Given the description of an element on the screen output the (x, y) to click on. 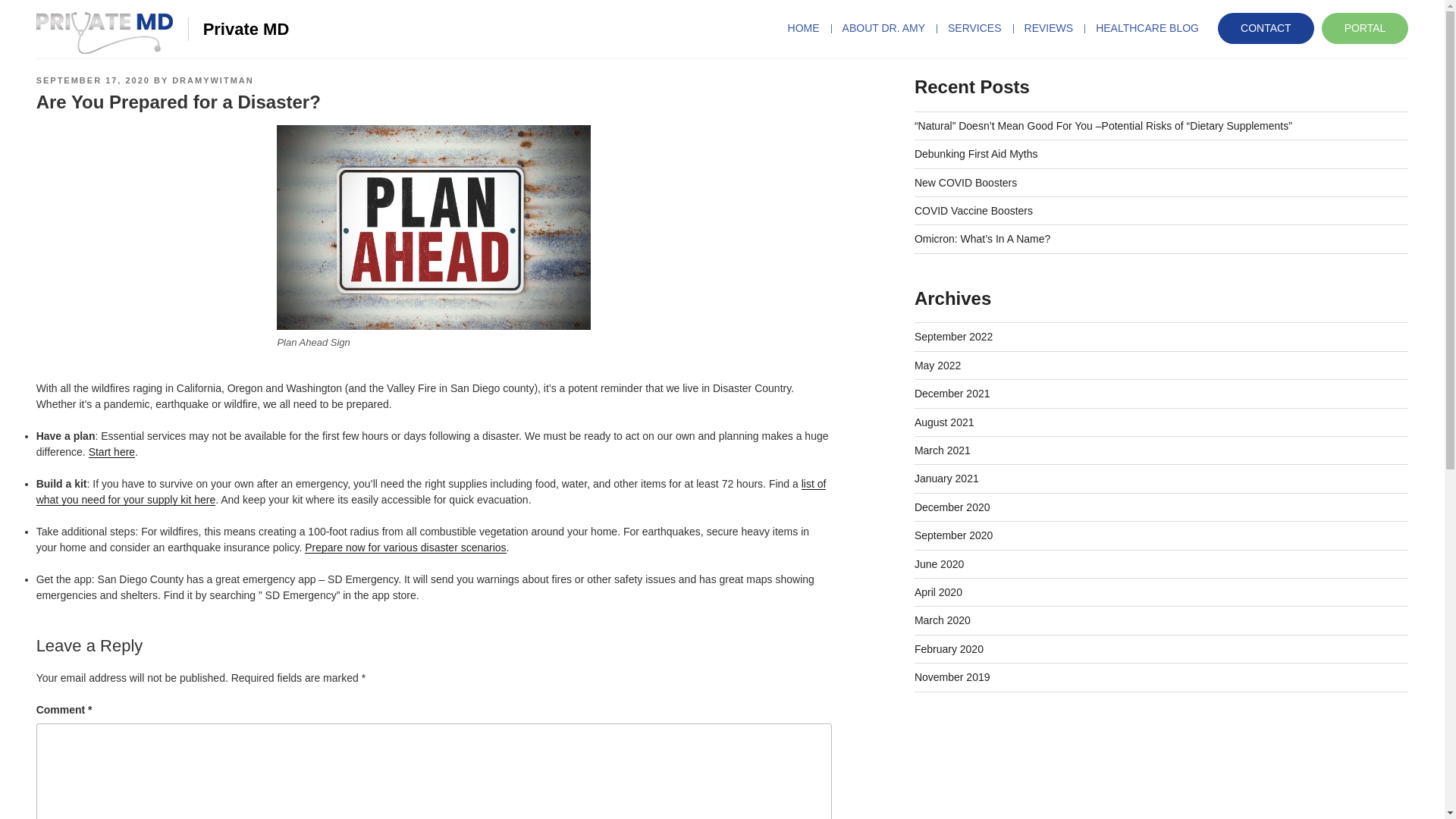
March 2021 (942, 450)
June 2020 (938, 563)
Debunking First Aid Myths (976, 153)
August 2021 (944, 422)
CONTACT (1265, 28)
HOME (809, 28)
September 2020 (953, 535)
SERVICES (974, 28)
DRAMYWITMAN (212, 80)
March 2020 (942, 620)
May 2022 (937, 365)
HEALTHCARE BLOG (1146, 28)
November 2019 (952, 676)
COVID Vaccine Boosters (973, 210)
December 2021 (952, 393)
